Given the description of an element on the screen output the (x, y) to click on. 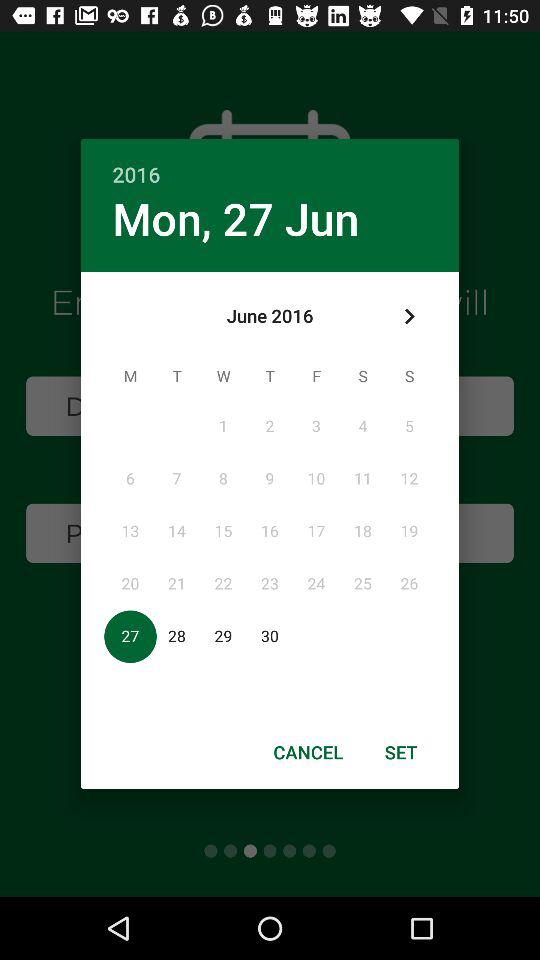
click the item next to the set (308, 751)
